Given the description of an element on the screen output the (x, y) to click on. 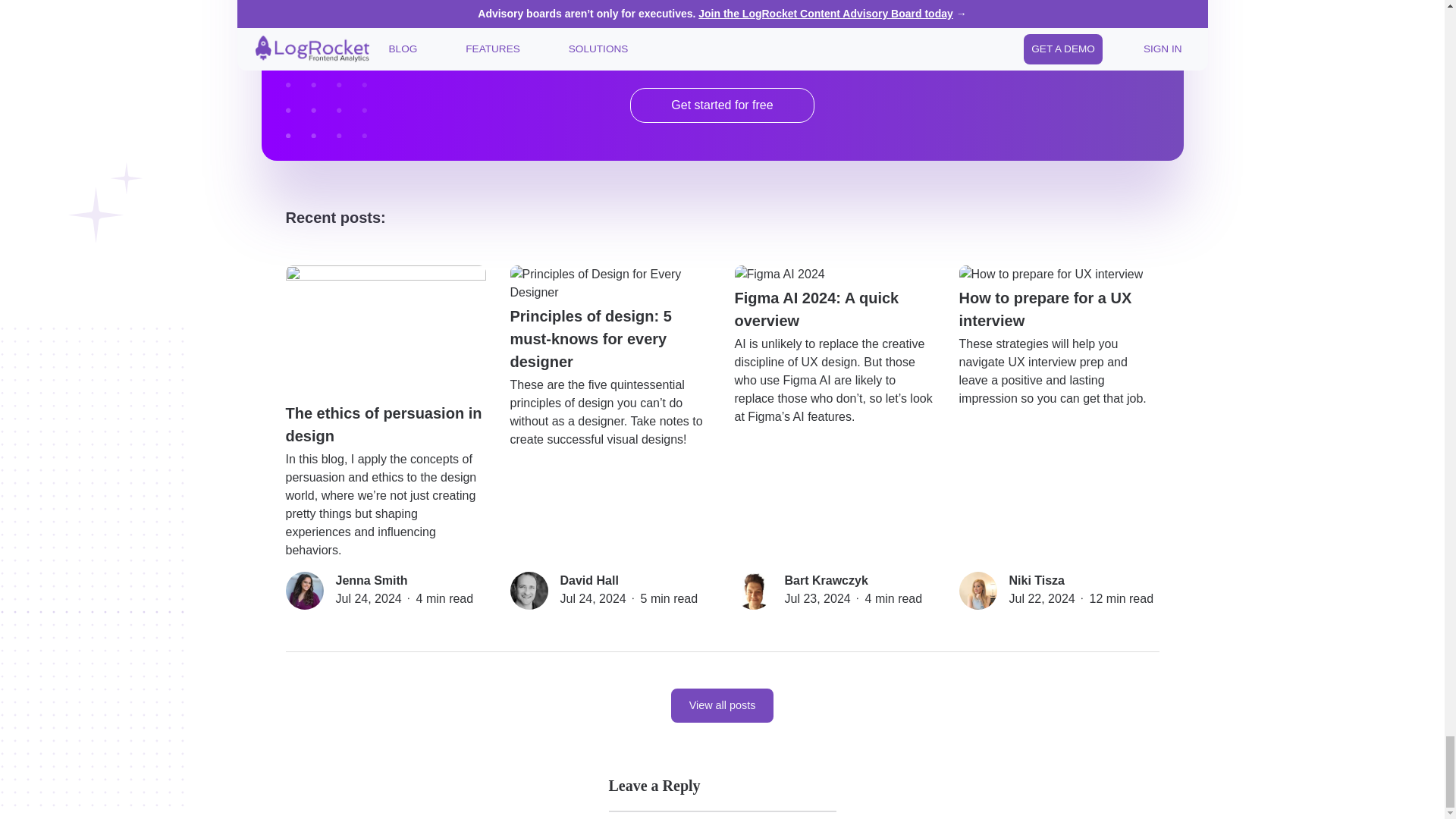
Jenna Smith (370, 580)
The ethics of persuasion in design (384, 356)
Get started for free (721, 104)
